Given the description of an element on the screen output the (x, y) to click on. 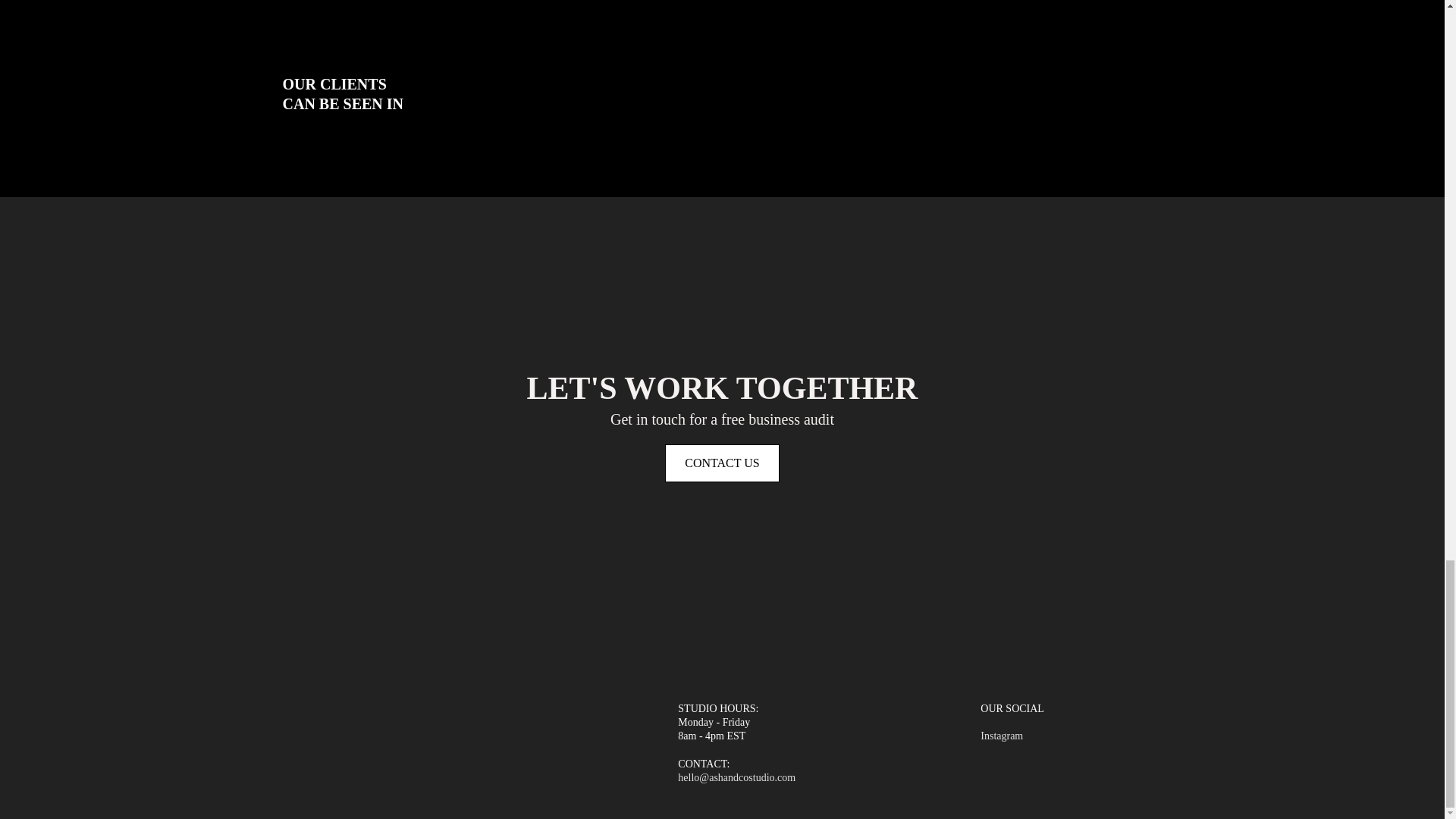
Instagram (1001, 736)
CONTACT US (721, 463)
